Given the description of an element on the screen output the (x, y) to click on. 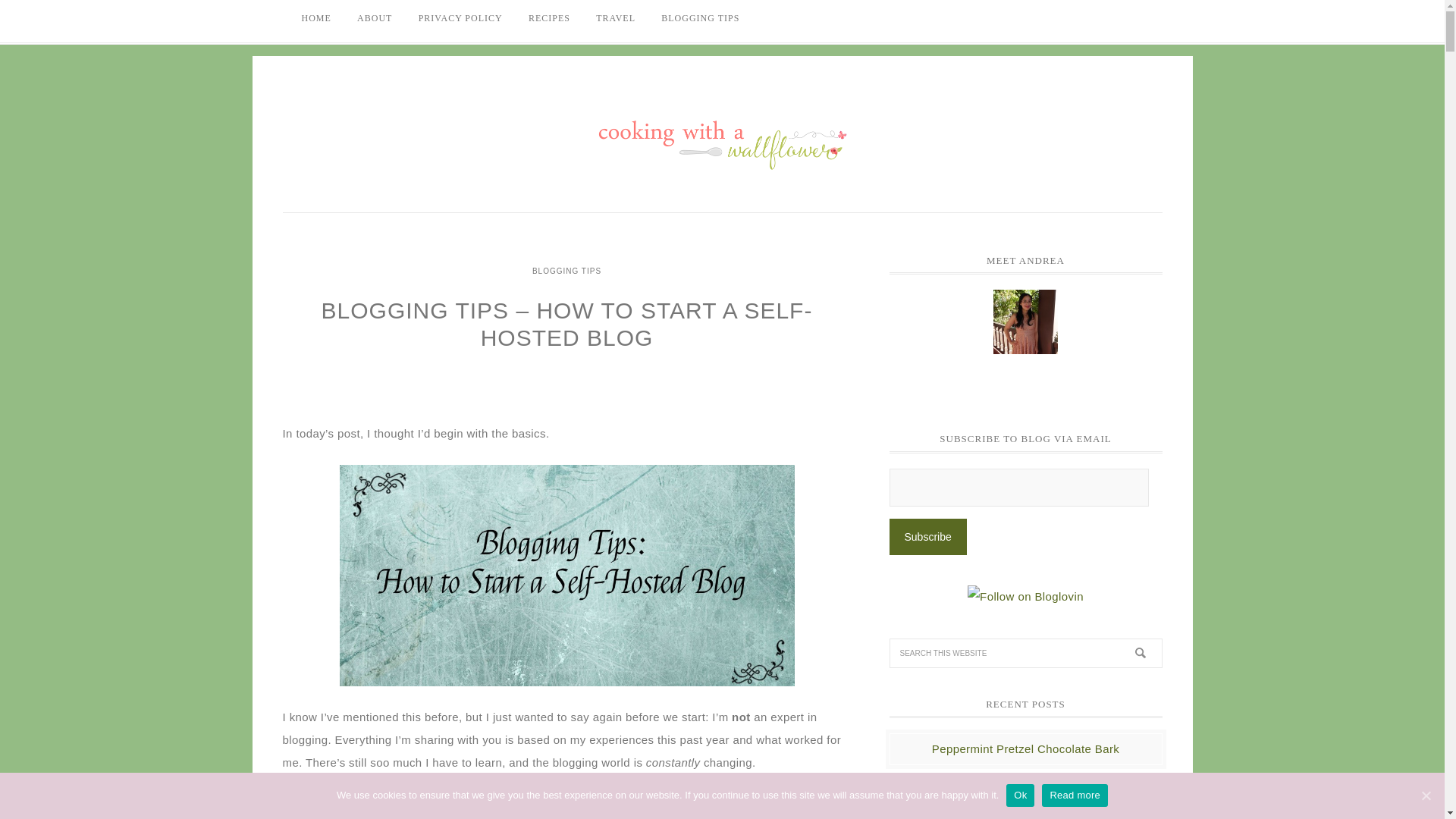
TRAVEL (615, 18)
BLOGGING TIPS (700, 18)
HOME (315, 18)
COOKING WITH A WALLFLOWER (721, 137)
Subscribe (927, 536)
PRIVACY POLICY (460, 18)
RECIPES (548, 18)
BLOGGING TIPS (567, 270)
ABOUT (374, 18)
Follow Cooking with a Wallflower on Bloglovin (1025, 595)
